Given the description of an element on the screen output the (x, y) to click on. 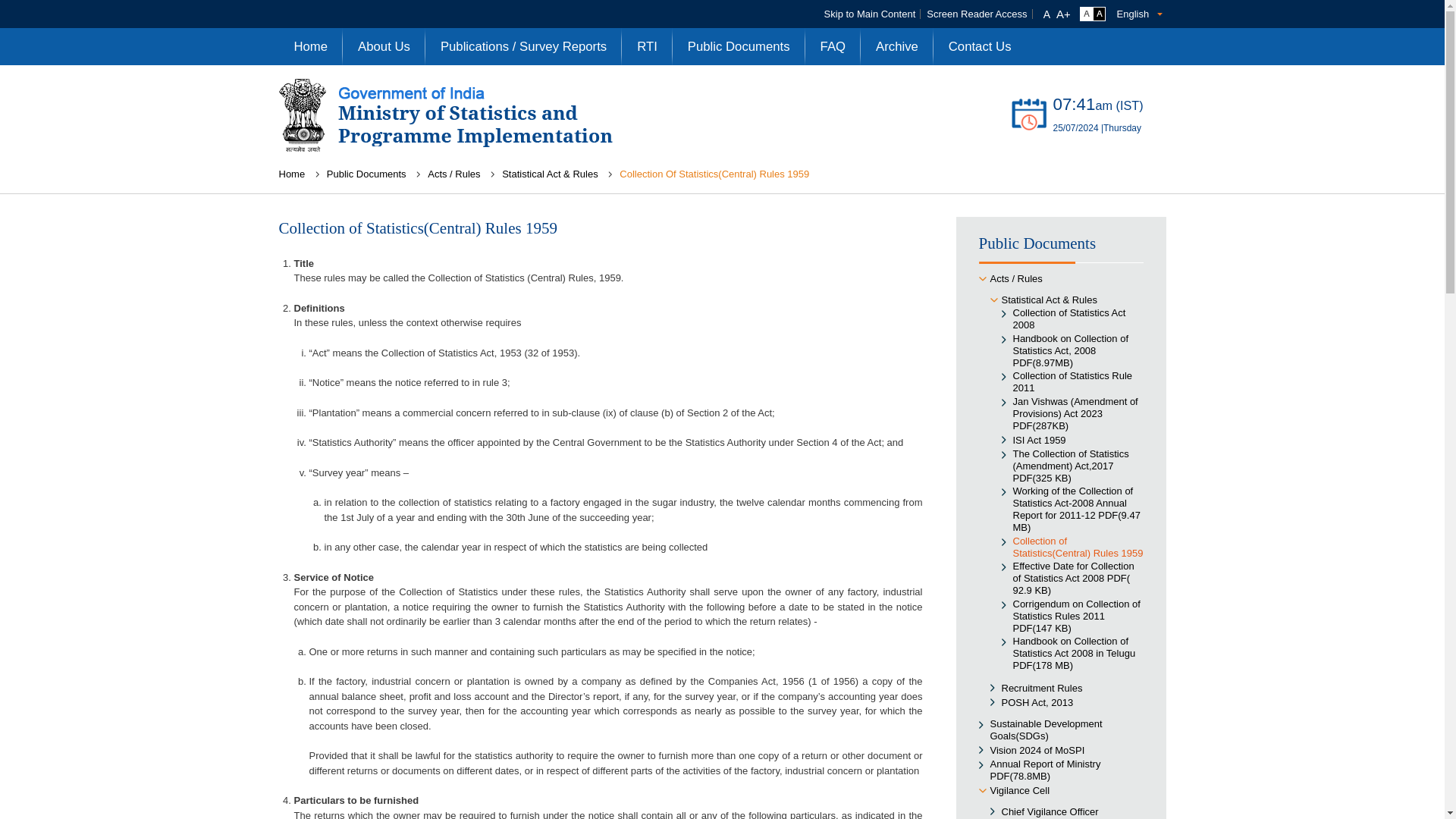
Skip to Main Content (869, 13)
Home (311, 46)
A (1047, 13)
Standard View (1086, 13)
Screen Reader Access (976, 13)
Home (311, 46)
Screen Reader Access (976, 13)
High Contrast View (1098, 13)
Increase Font Size (383, 46)
About Us (1063, 13)
Standard View (383, 46)
Standard View (1086, 13)
High Contrast View (1086, 13)
High Contrast View (1098, 13)
